Given the description of an element on the screen output the (x, y) to click on. 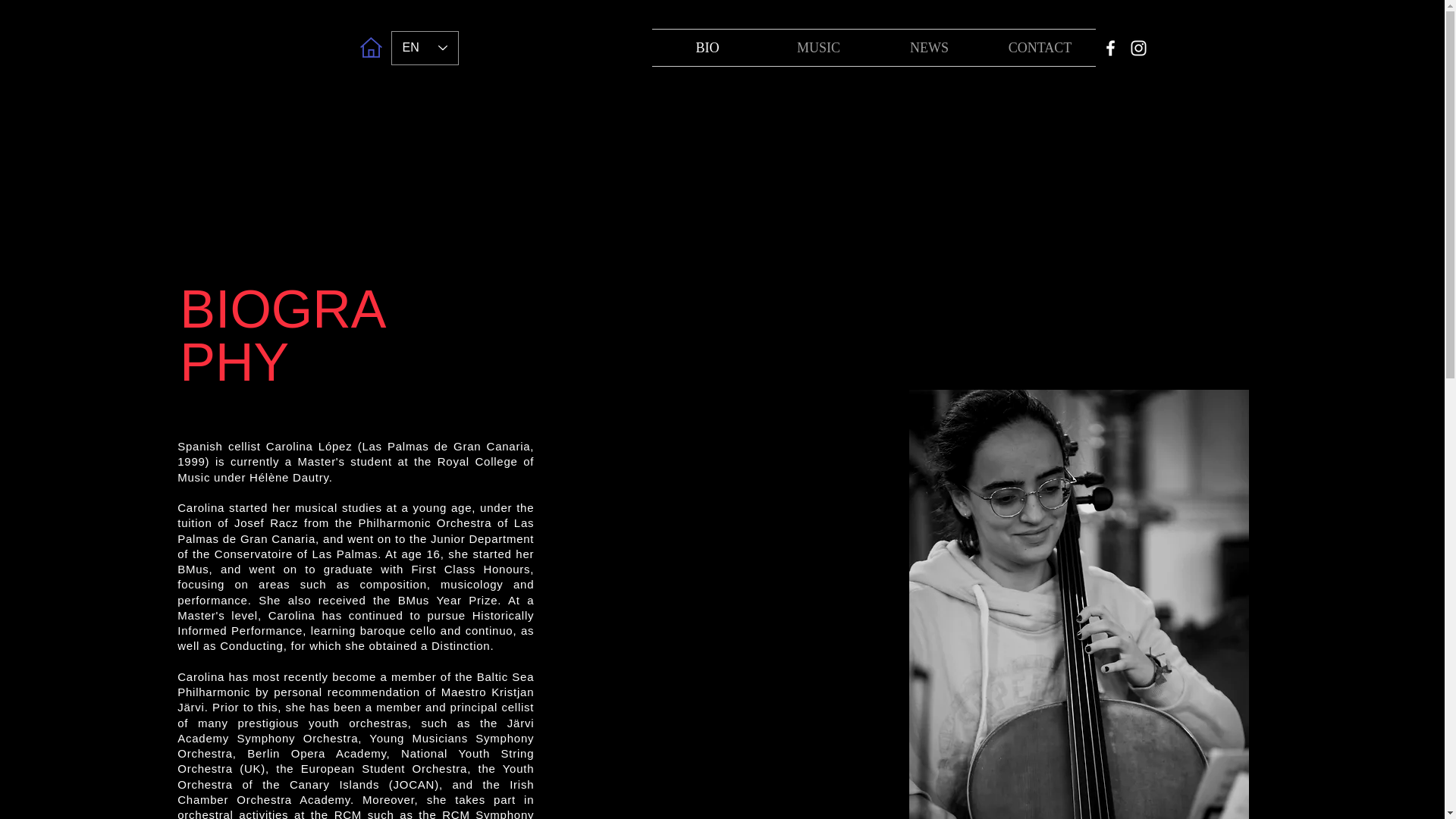
CONTACT (1039, 47)
NEWS (928, 47)
MUSIC (817, 47)
BIO (707, 47)
